Given the description of an element on the screen output the (x, y) to click on. 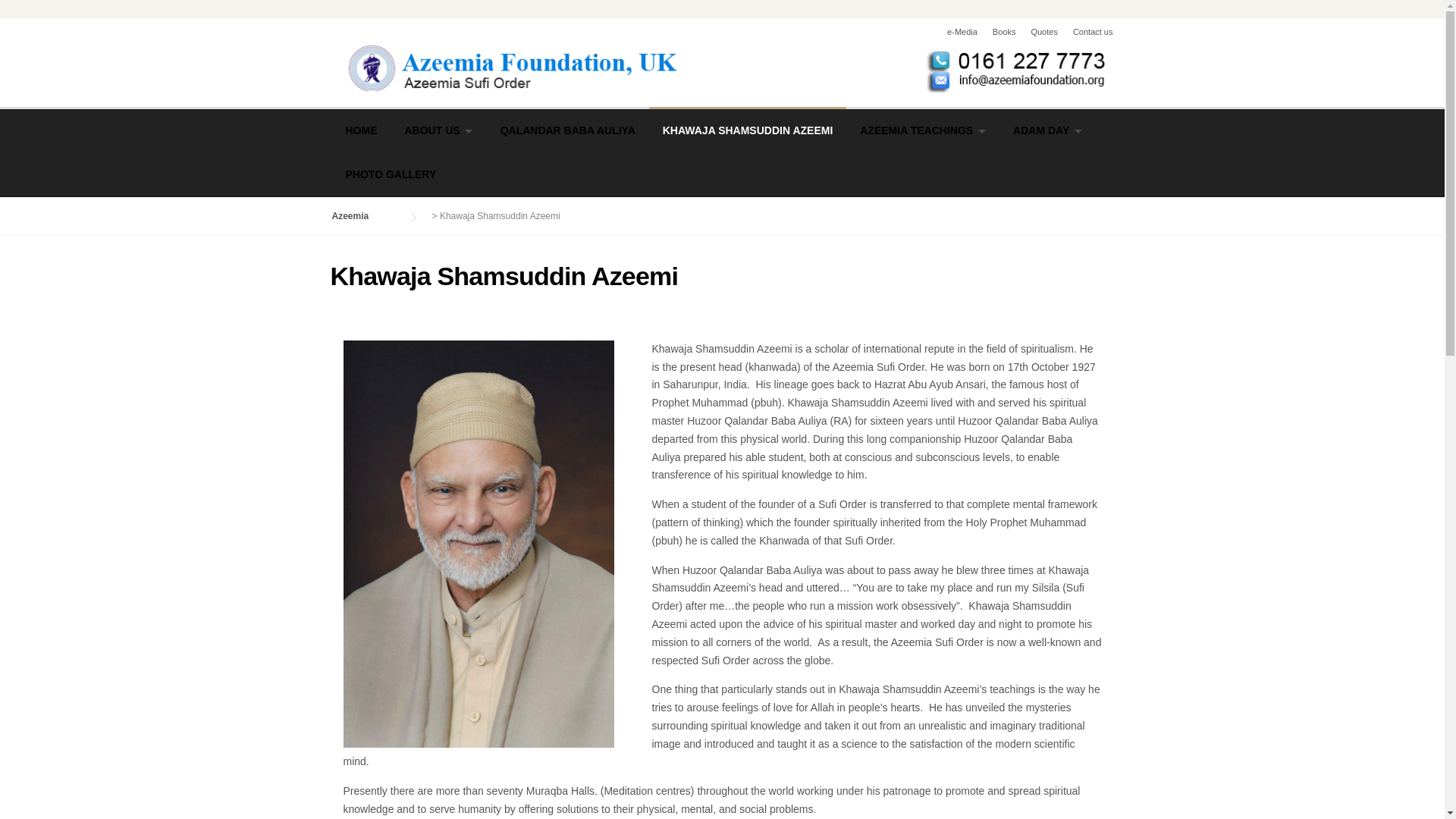
QALANDAR BABA AULIYA (567, 130)
KHAWAJA SHAMSUDDIN AZEEMI (748, 130)
Contact us (1085, 31)
Azeemia (364, 215)
Quotes (1035, 31)
HOME (361, 130)
ABOUT US (438, 130)
PHOTO GALLERY (390, 175)
Go to Azeemia. (364, 215)
AZEEMIA TEACHINGS (921, 130)
ADAM DAY (1047, 130)
e-Media (953, 31)
Books (996, 31)
Azeemia (722, 67)
